Given the description of an element on the screen output the (x, y) to click on. 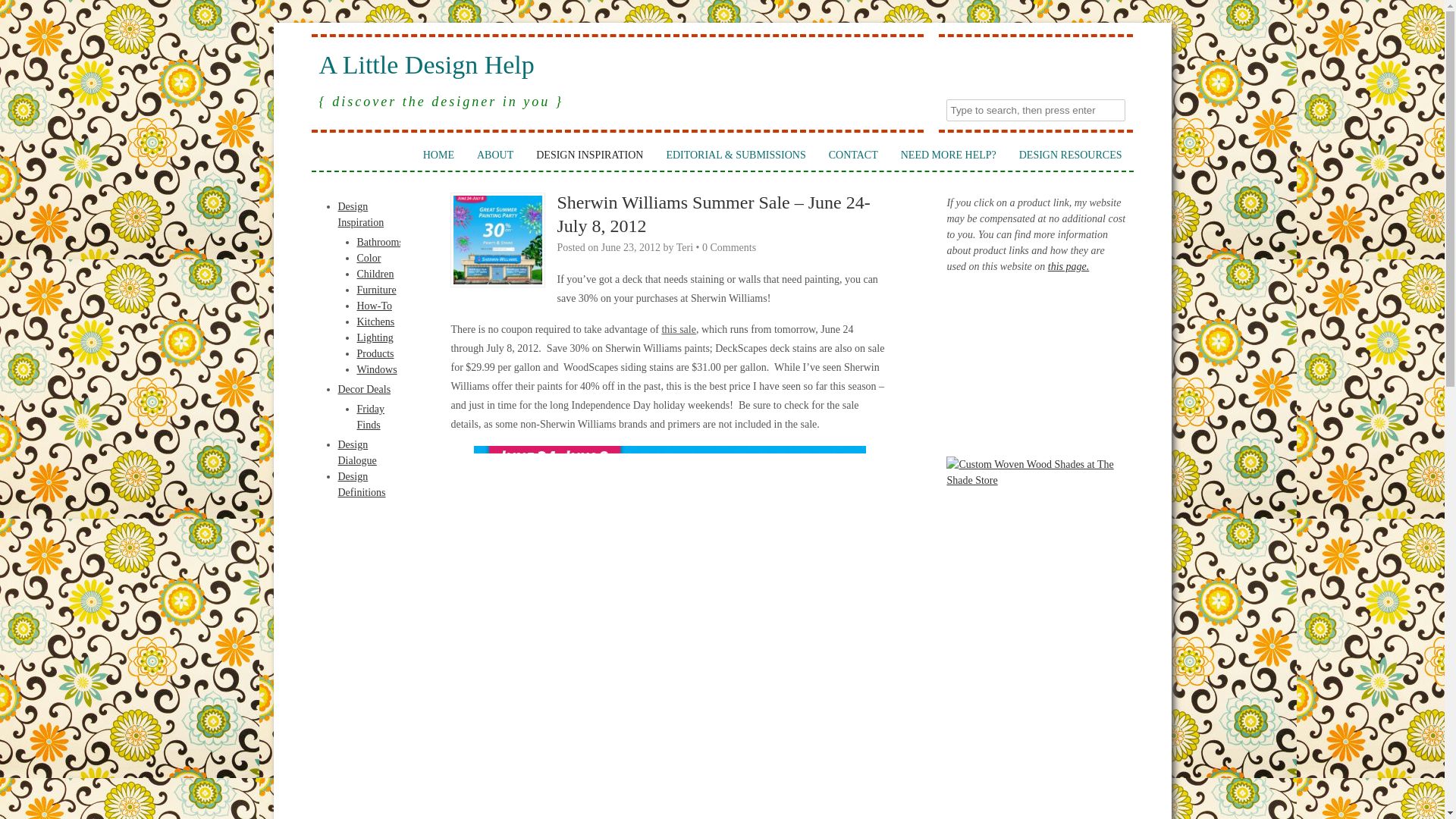
Teri (685, 247)
Furniture (376, 289)
DESIGN RESOURCES (1070, 155)
Bathrooms (379, 242)
Design Dialogue (357, 452)
ABOUT (494, 155)
How-To (373, 306)
Kitchens (375, 321)
Color (368, 257)
Design Definitions (361, 483)
DESIGN INSPIRATION (588, 155)
Search (23, 10)
Products (374, 353)
CONTACT (852, 155)
Decor Deals (364, 389)
